Given the description of an element on the screen output the (x, y) to click on. 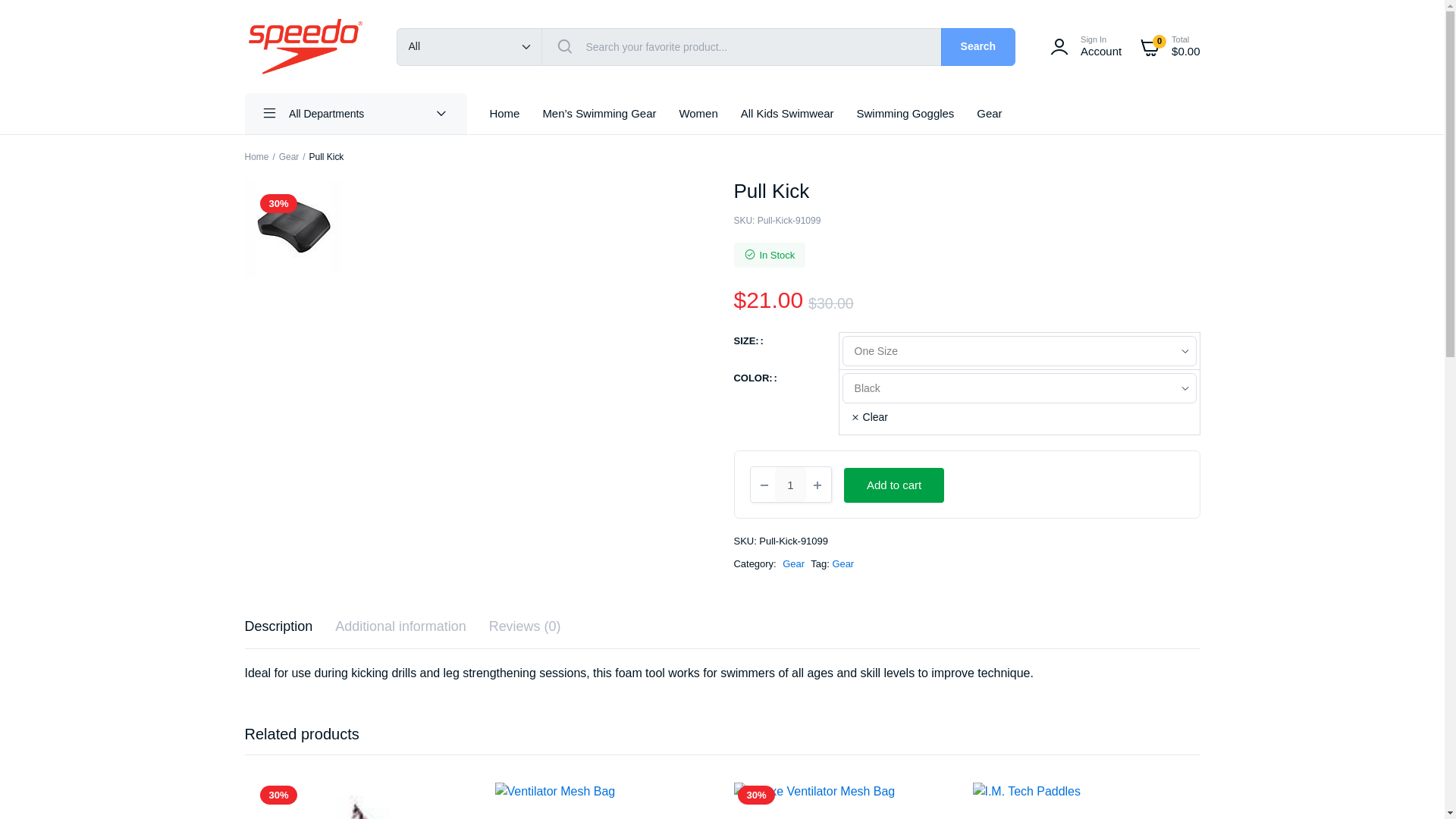
Additional information (399, 626)
Home (255, 156)
Swimming Goggles (905, 113)
Women (698, 113)
Search (978, 46)
Gear (989, 113)
PJSPEEDOS (304, 46)
Clear (869, 417)
Add to cart (893, 484)
